Given the description of an element on the screen output the (x, y) to click on. 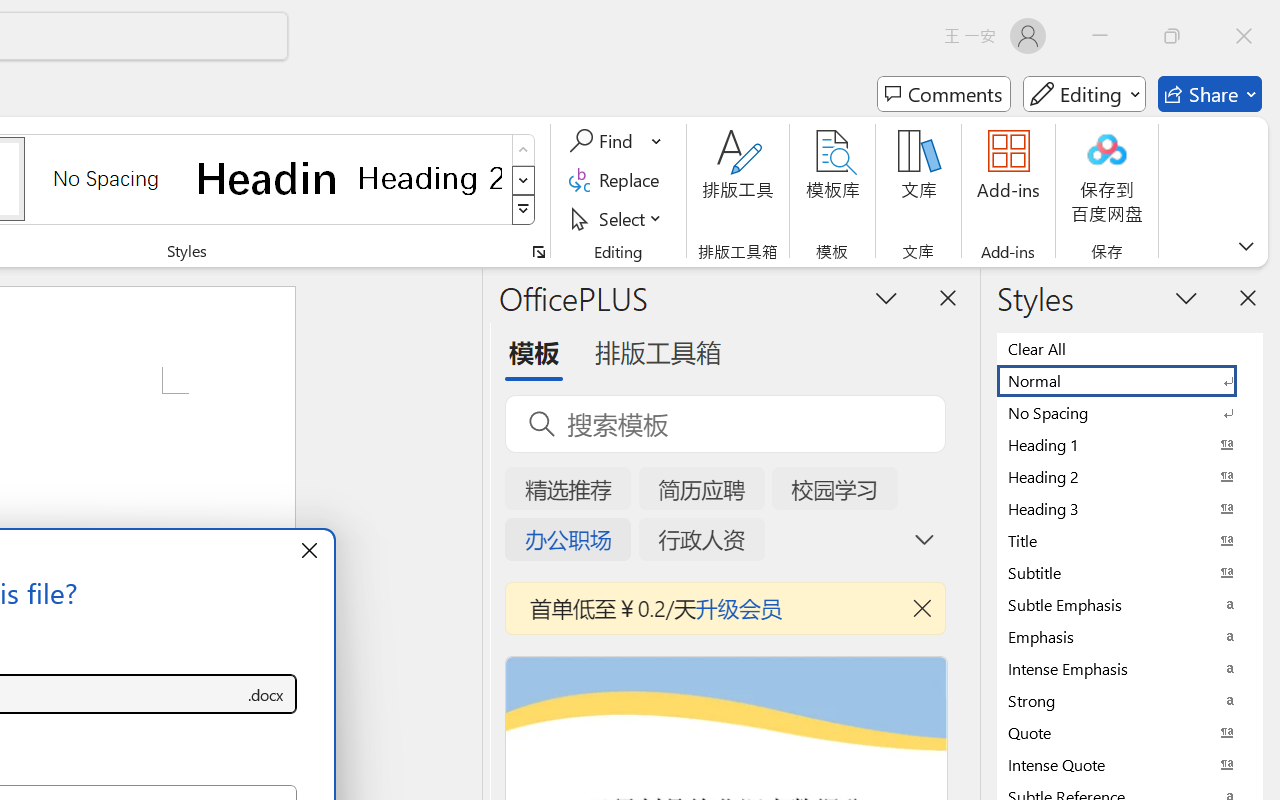
Row Down (523, 180)
Quote (1130, 732)
Close (1244, 36)
Share (1210, 94)
Restore Down (1172, 36)
More Options (657, 141)
Replace... (617, 179)
Heading 1 (267, 178)
Clear All (1130, 348)
Mode (1083, 94)
Task Pane Options (886, 297)
Minimize (1099, 36)
